Given the description of an element on the screen output the (x, y) to click on. 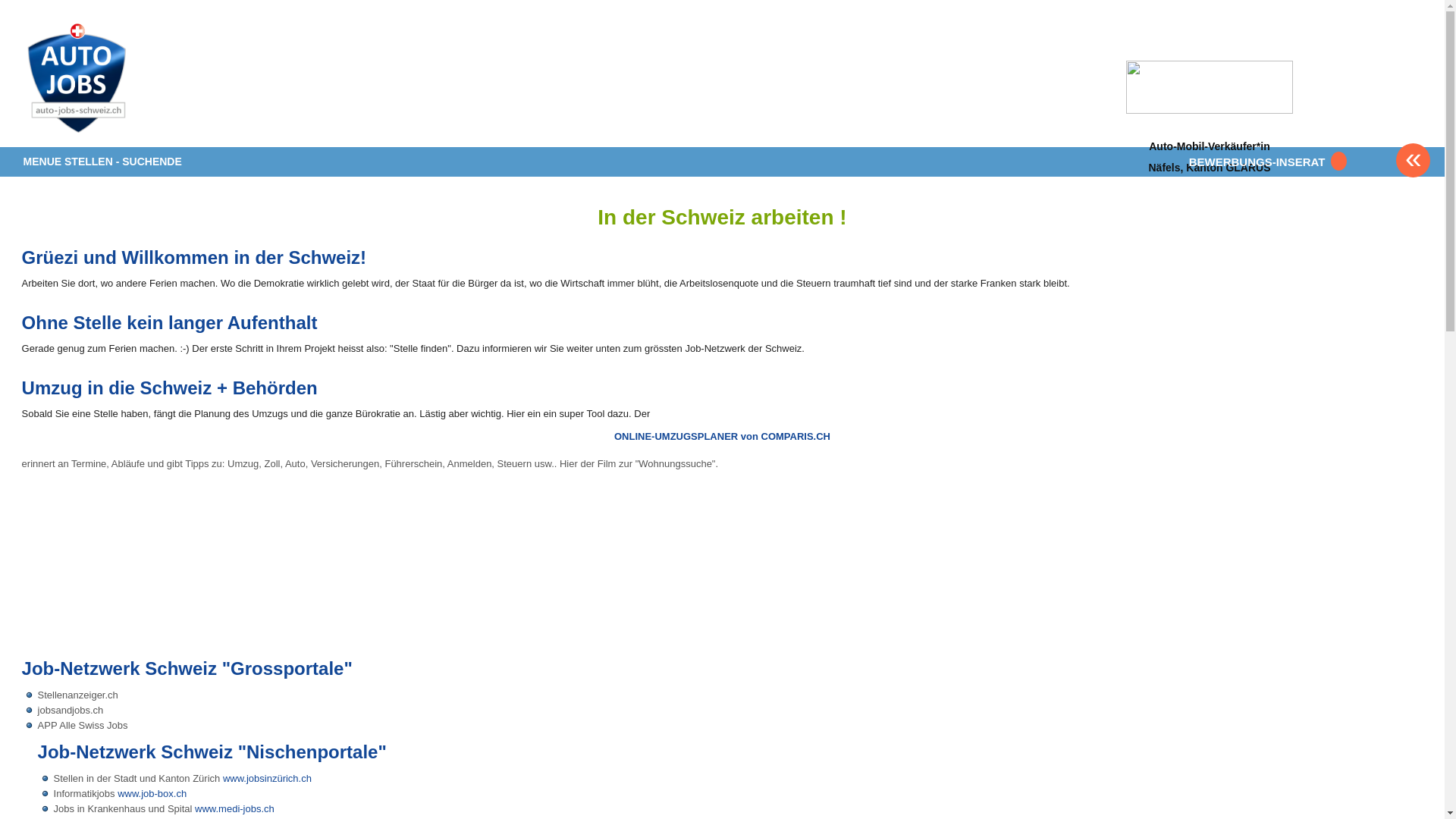
www.medi-jobs.ch Element type: text (234, 807)
MENUE STELLEN - SUCHENDE Element type: text (102, 161)
www.StellenAnzeiger.ch Element type: text (112, 78)
www.job-box.ch Element type: text (151, 792)
ONLINE-UMZUGSPLANER von COMPARIS.CH Element type: text (722, 436)
BEWERBUNGS-INSERAT
  Element type: text (1265, 161)
